Given the description of an element on the screen output the (x, y) to click on. 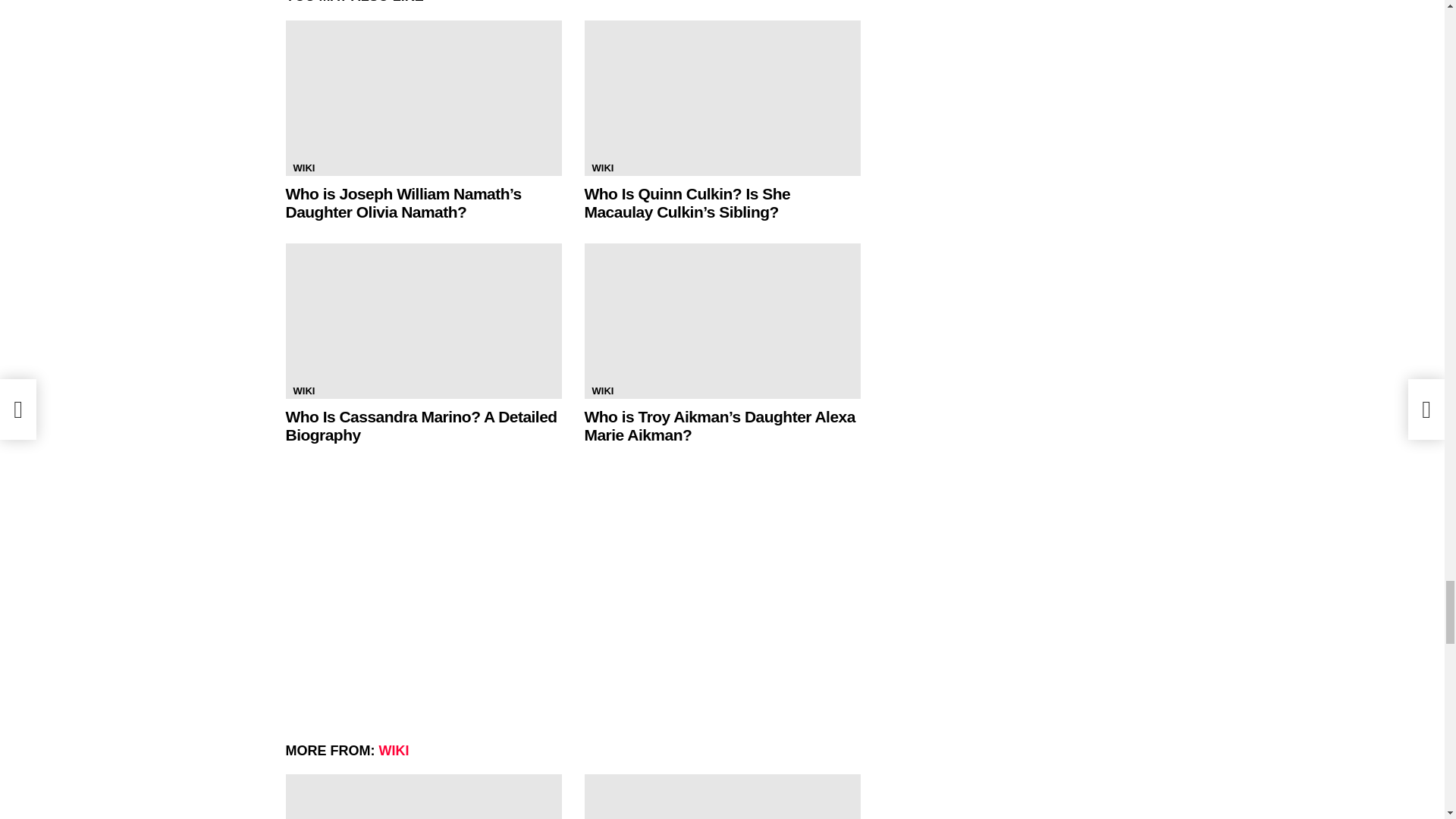
Who Is Cassandra Marino? A Detailed Biography (422, 320)
WIKI (303, 168)
WIKI (602, 391)
WIKI (303, 391)
WIKI (602, 168)
Who Is Cassandra Marino? A Detailed Biography (420, 425)
